Given the description of an element on the screen output the (x, y) to click on. 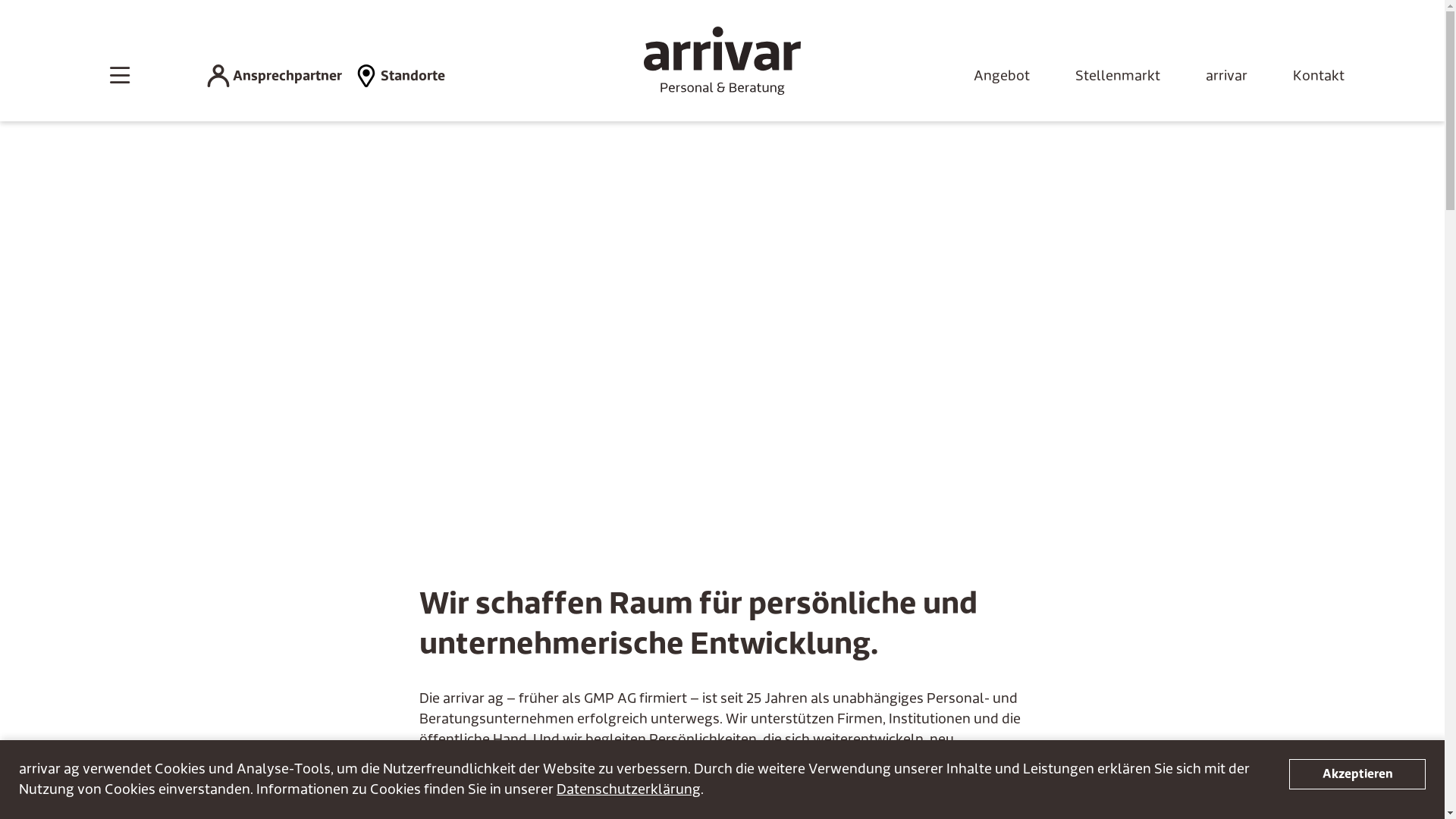
Akzeptieren Element type: text (1357, 774)
Angebot Element type: text (1001, 75)
Kontakt Element type: text (1317, 75)
Stellenmarkt Element type: text (1117, 75)
Standorte Element type: text (399, 75)
Ansprechpartner Element type: text (273, 75)
arrivar Element type: text (1226, 75)
Arrivar Intro Element type: hover (722, 318)
